Given the description of an element on the screen output the (x, y) to click on. 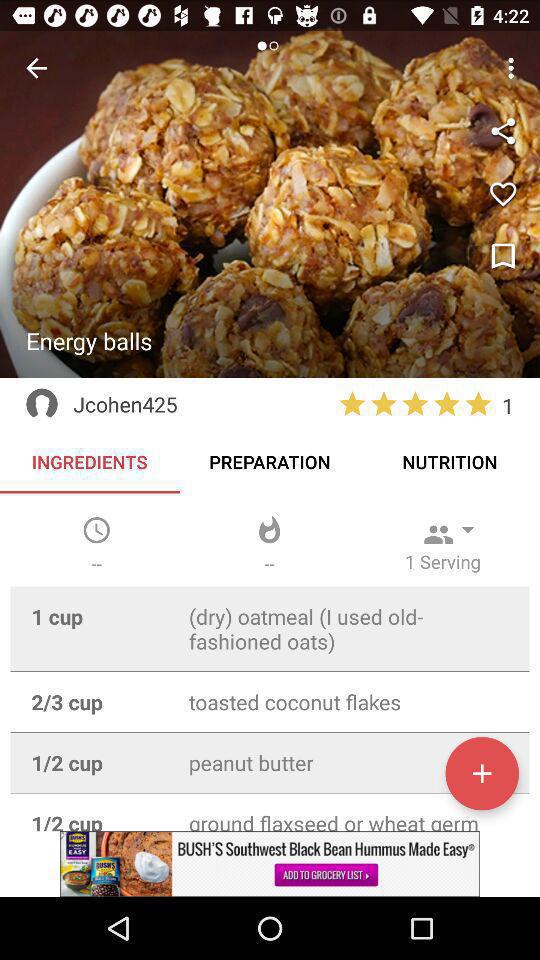
share recipe (503, 131)
